Given the description of an element on the screen output the (x, y) to click on. 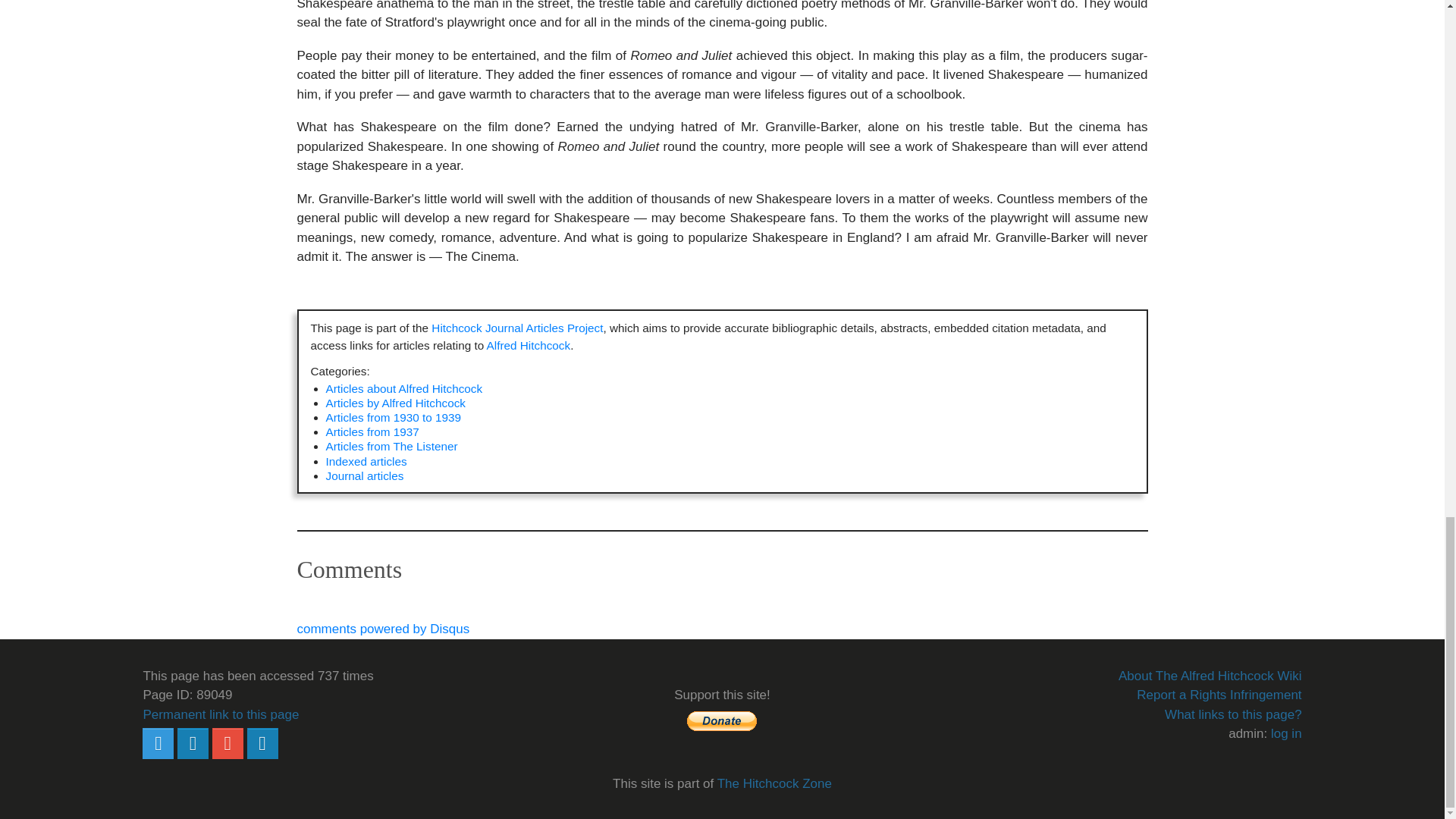
How to report a rights infringement (1219, 694)
help support this web site (722, 720)
Indexed articles (366, 461)
Hitchcock Journal Articles Project (516, 327)
Hitchcock Journal Articles Project (516, 327)
Category:Articles by Alfred Hitchcock (395, 402)
Category:Articles about Alfred Hitchcock (404, 388)
comments powered by Disqus (383, 628)
Category:Journal articles (365, 475)
Articles about Alfred Hitchcock (404, 388)
Category:Articles from The Listener (392, 445)
Articles by Alfred Hitchcock (395, 402)
Alfred Hitchcock (528, 345)
Permanent link to this page (220, 714)
Alfred Hitchcock Wiki:About (1209, 676)
